Given the description of an element on the screen output the (x, y) to click on. 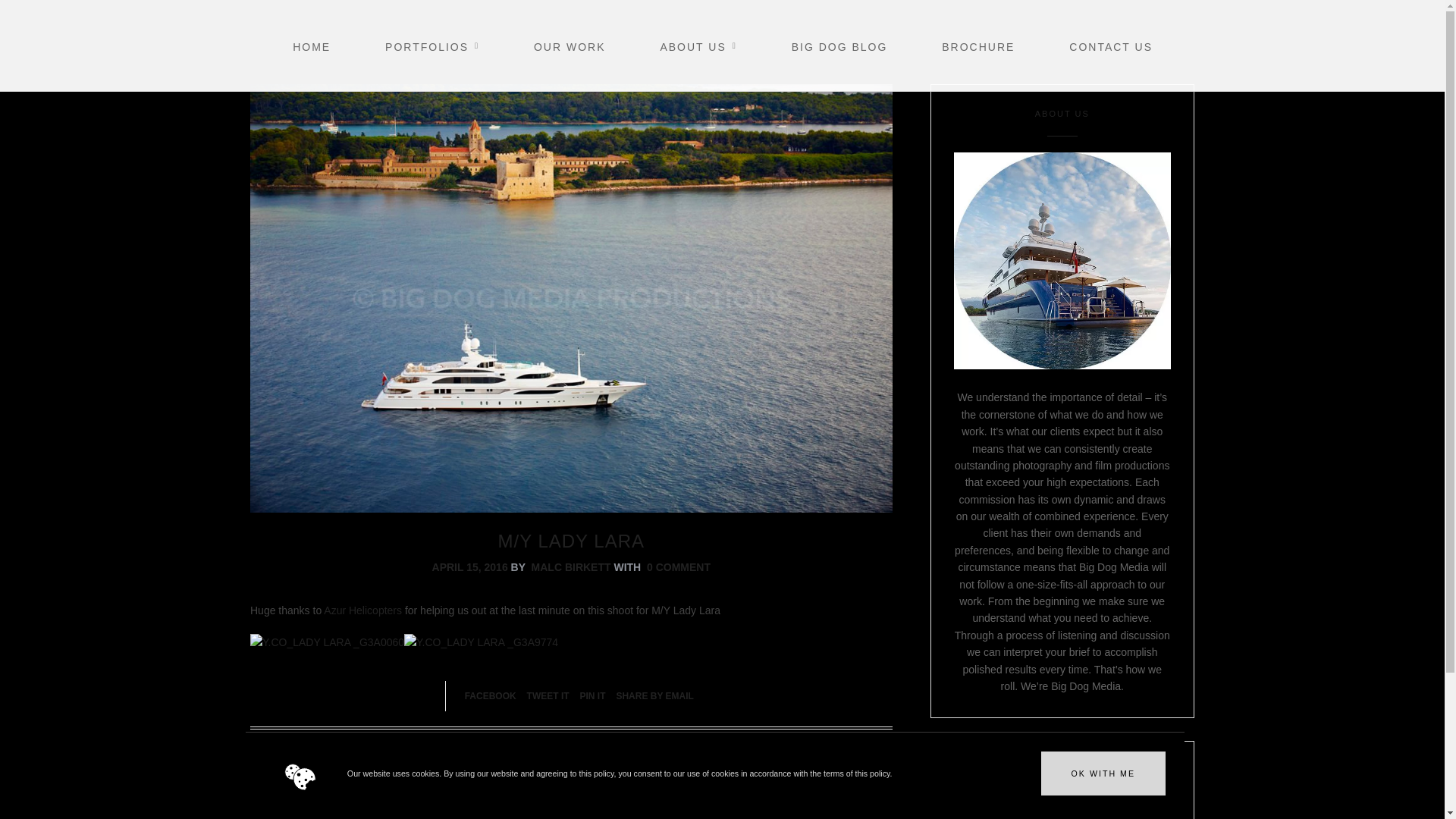
BROCHURE (994, 47)
ABOUT US (713, 47)
APRIL 15, 2016 (470, 567)
OUR WORK (585, 47)
Pin it (592, 696)
BIG DOG BLOG (855, 47)
HOME (327, 47)
Facebook (490, 696)
PORTFOLIOS (448, 47)
Tweet it (548, 696)
